Given the description of an element on the screen output the (x, y) to click on. 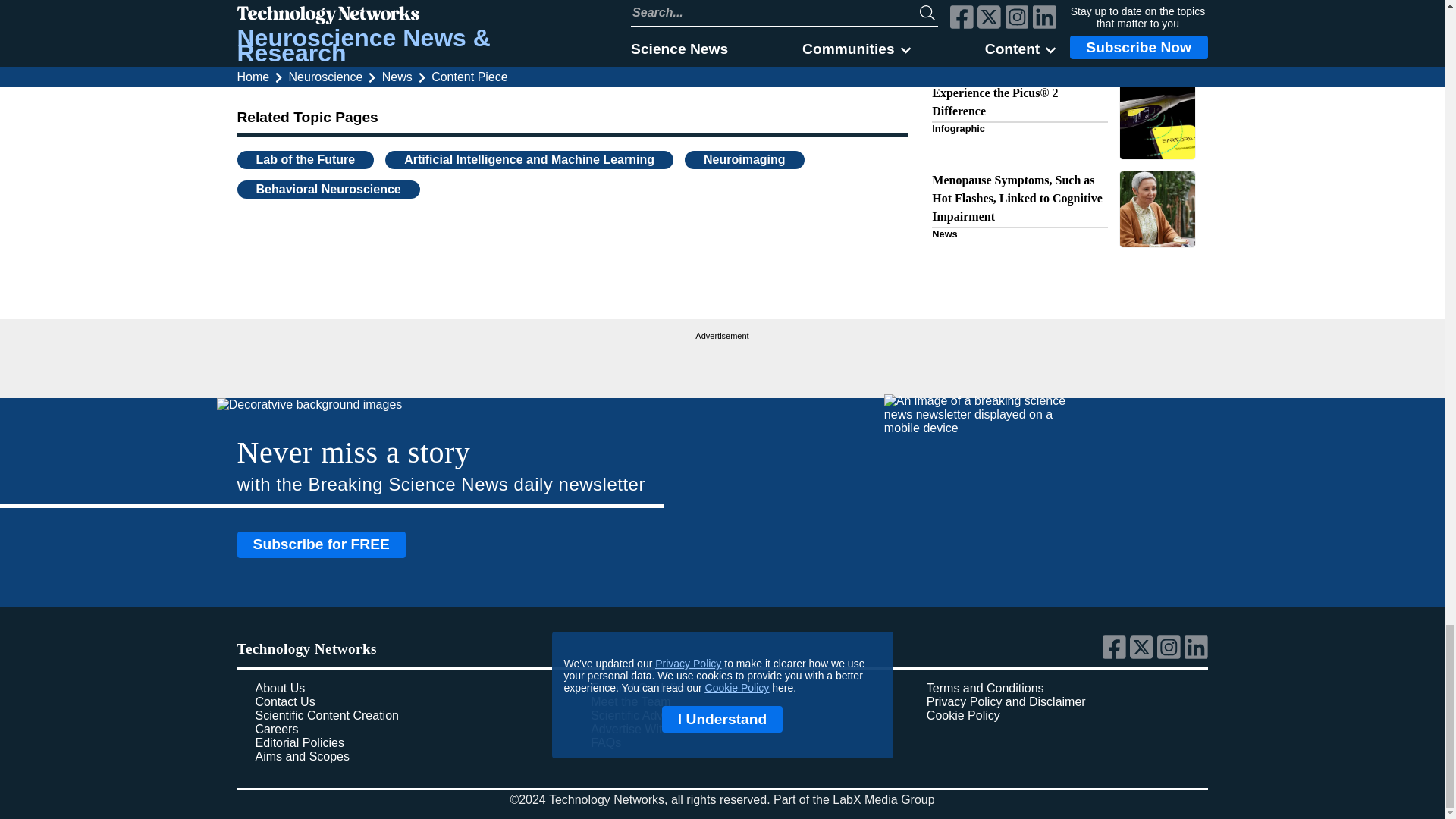
Link to Technology Networks' linkedin page (1196, 655)
3rd party ad content (721, 362)
Link to Technology Networks' twitter page (1143, 655)
Link to Technology Networks' instagram page (1171, 655)
Link to Technology Networks' facebook page (1115, 655)
